Given the description of an element on the screen output the (x, y) to click on. 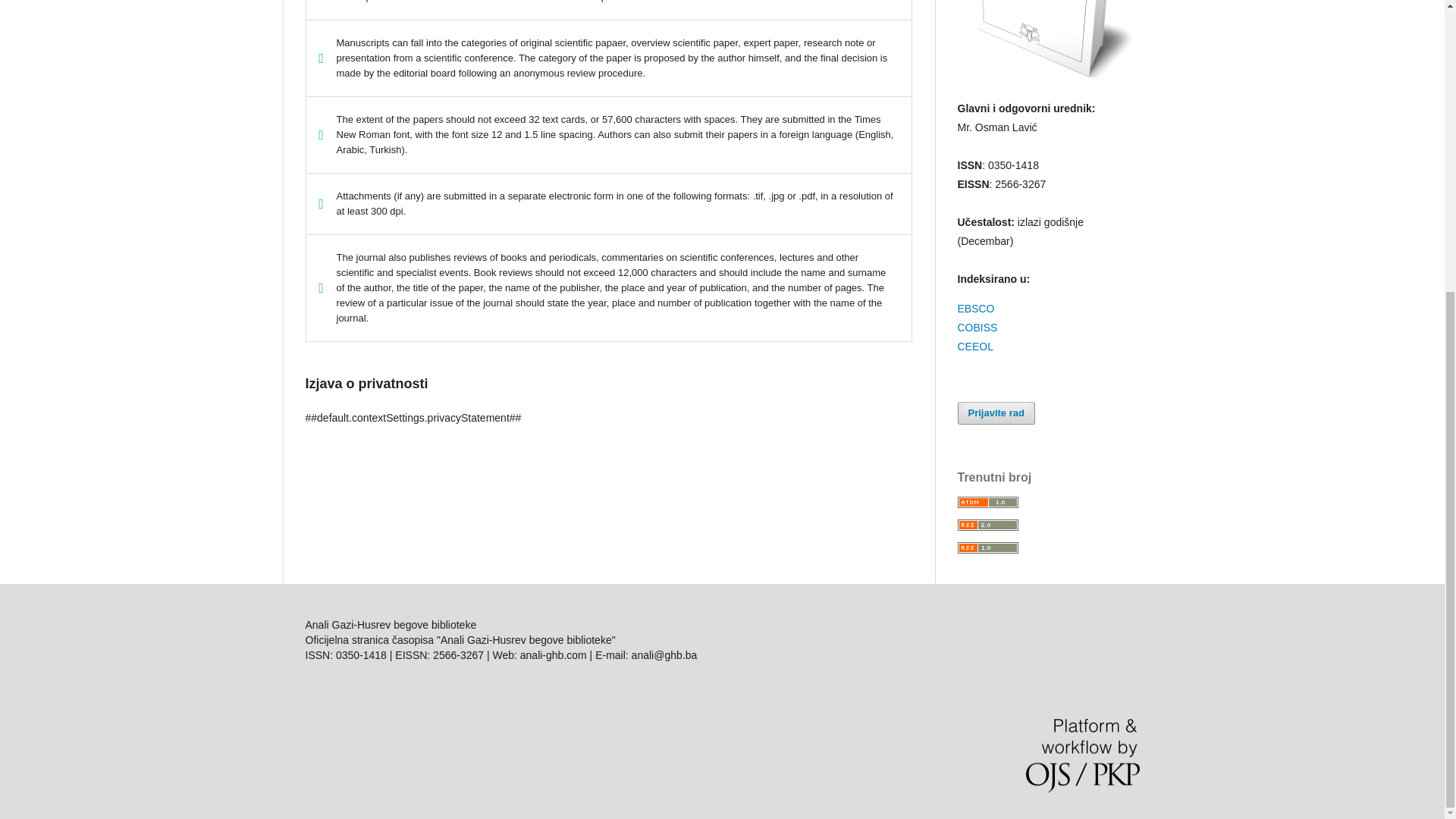
CEEOL (974, 346)
Prijavite rad (994, 413)
EBSCO (975, 308)
COBISS (976, 327)
